Given the description of an element on the screen output the (x, y) to click on. 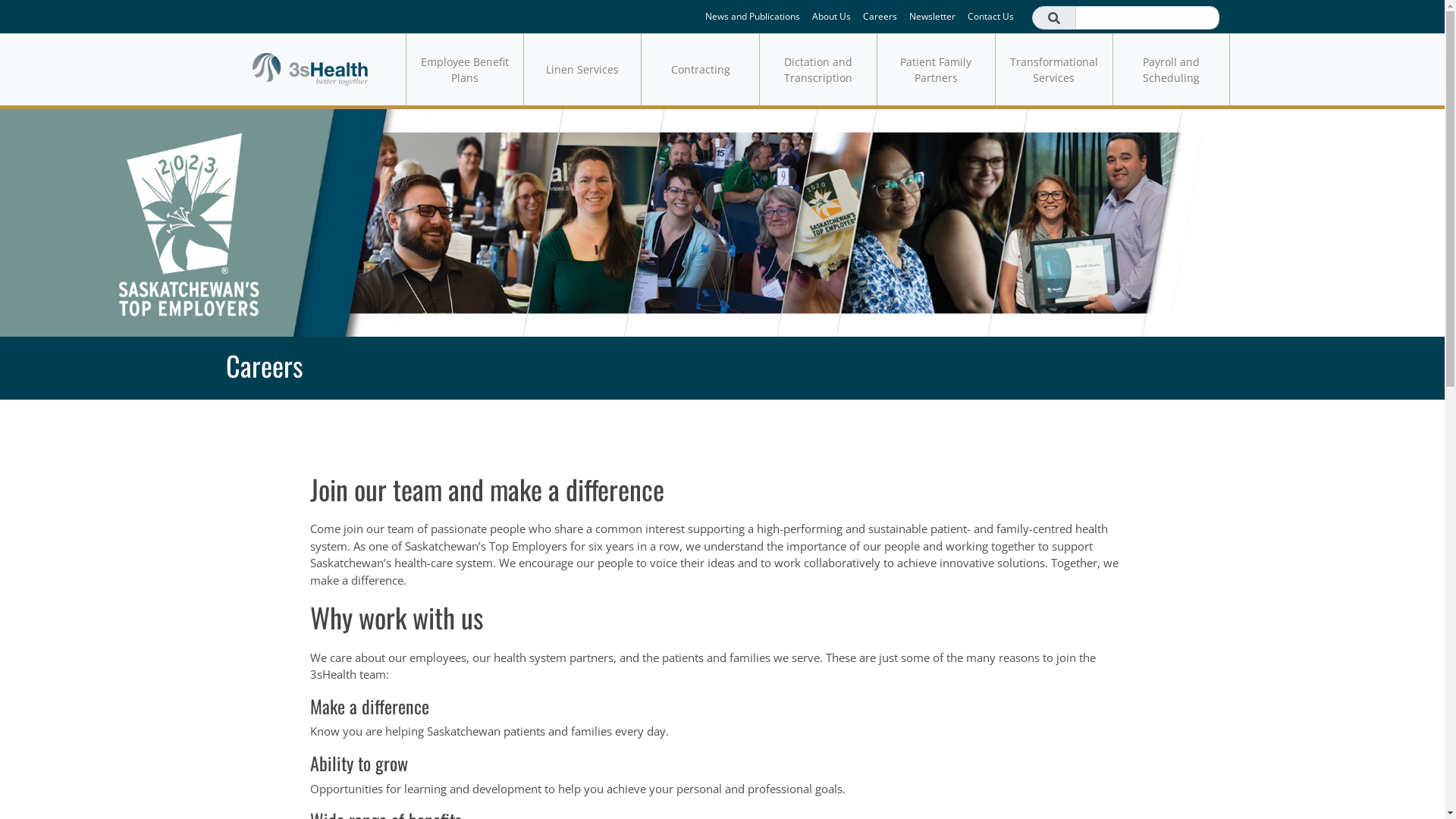
Employee Benefit Plans Element type: text (463, 69)
Newsletter Element type: text (931, 16)
Dictation and Transcription Element type: text (817, 69)
Patient Family Partners Element type: text (935, 69)
About Us Element type: text (830, 16)
Careers Element type: text (879, 16)
Payroll and Scheduling Element type: text (1171, 69)
Transformational Services Element type: text (1053, 69)
Contracting Element type: text (699, 69)
Contact Us Element type: text (990, 16)
Linen Services Element type: text (581, 69)
News and Publications Element type: text (752, 16)
